Given the description of an element on the screen output the (x, y) to click on. 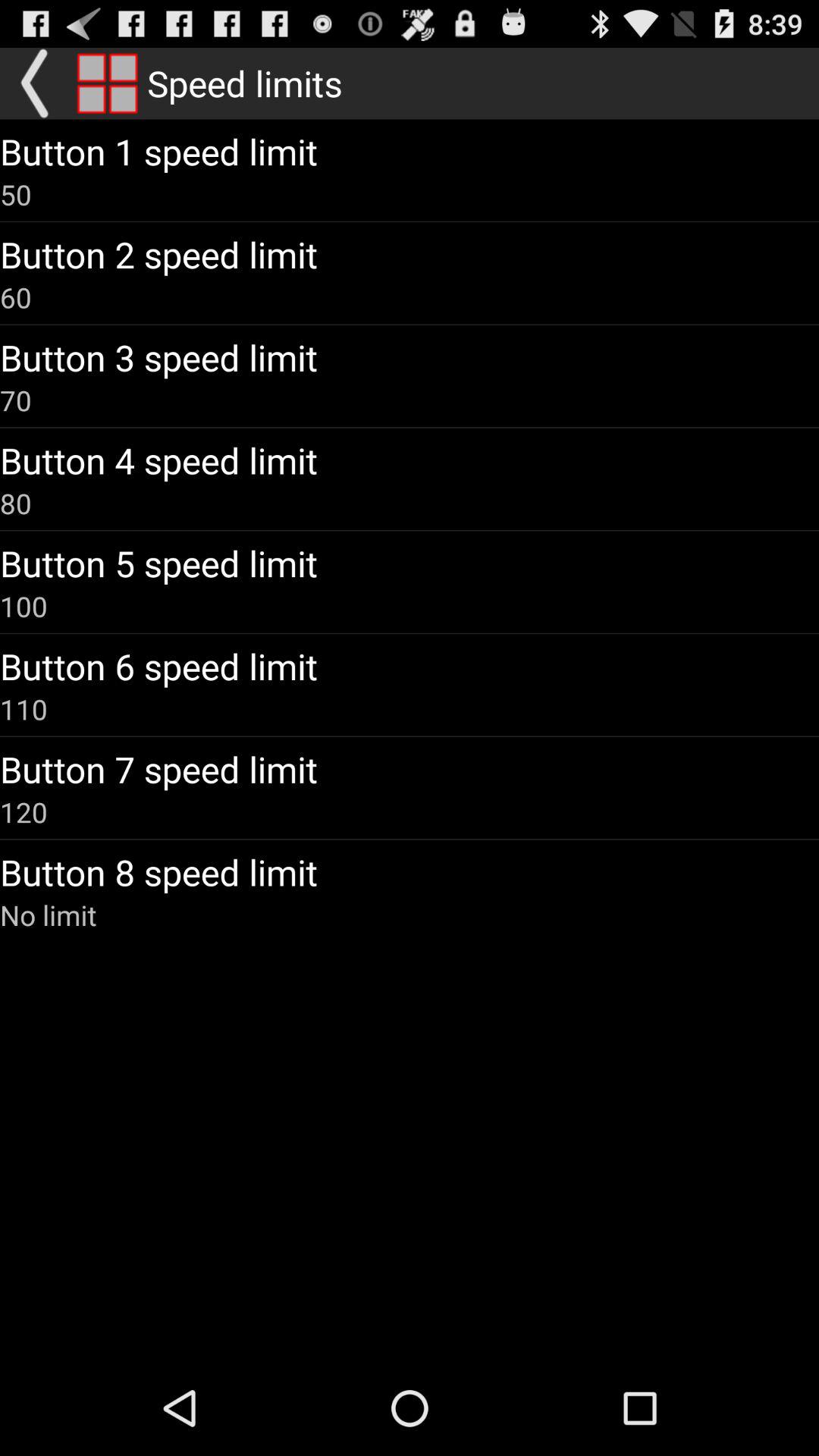
turn on the 80 (15, 503)
